Given the description of an element on the screen output the (x, y) to click on. 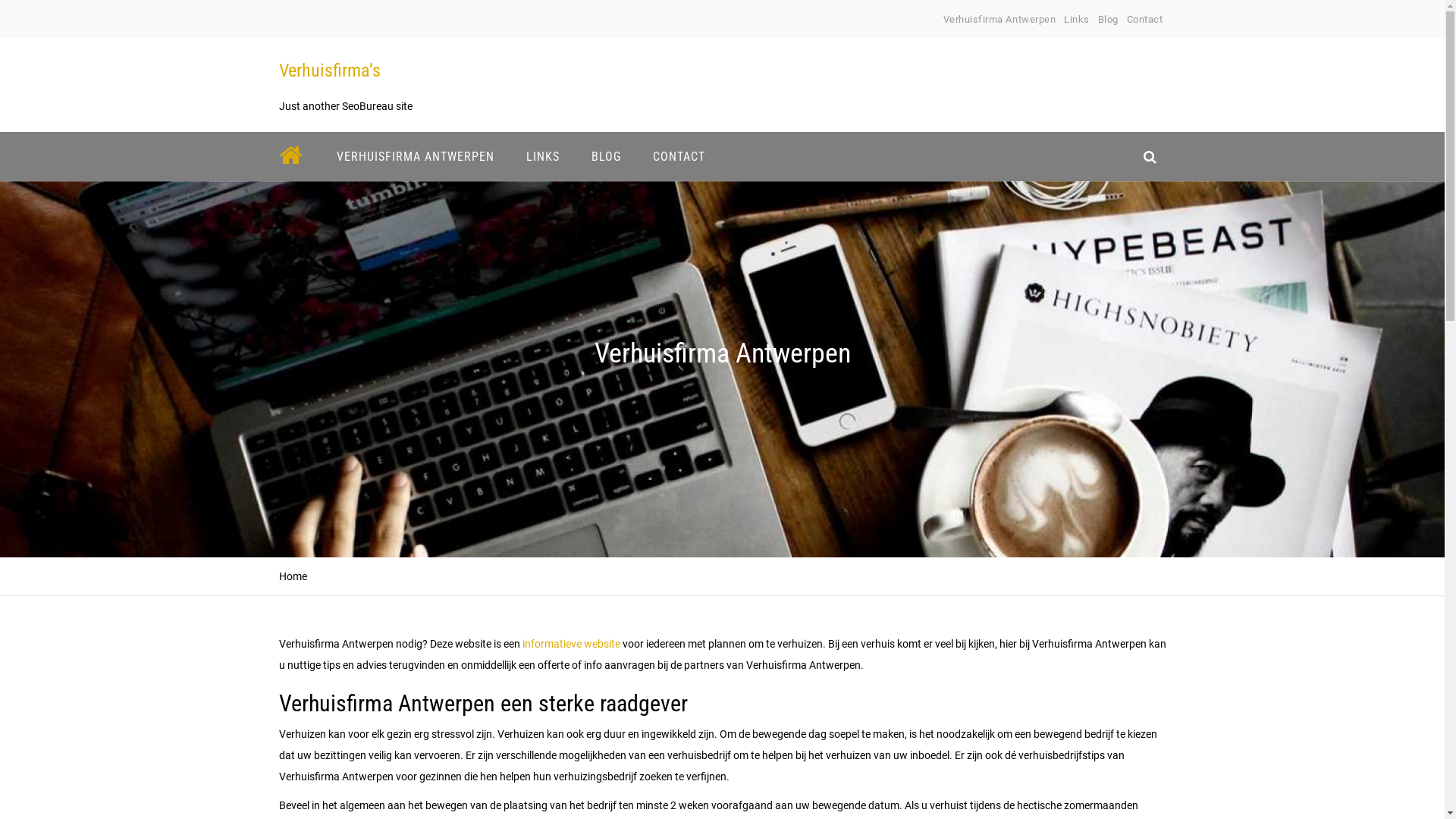
Verhuisfirma Antwerpen Element type: text (999, 19)
search_icon Element type: hover (1148, 156)
BLOG Element type: text (605, 156)
Blog Element type: text (1108, 19)
informatieve website Element type: text (570, 643)
Contact Element type: text (1144, 19)
CONTACT Element type: text (679, 156)
LINKS Element type: text (541, 156)
Links Element type: text (1076, 19)
VERHUISFIRMA ANTWERPEN Element type: text (414, 156)
